Given the description of an element on the screen output the (x, y) to click on. 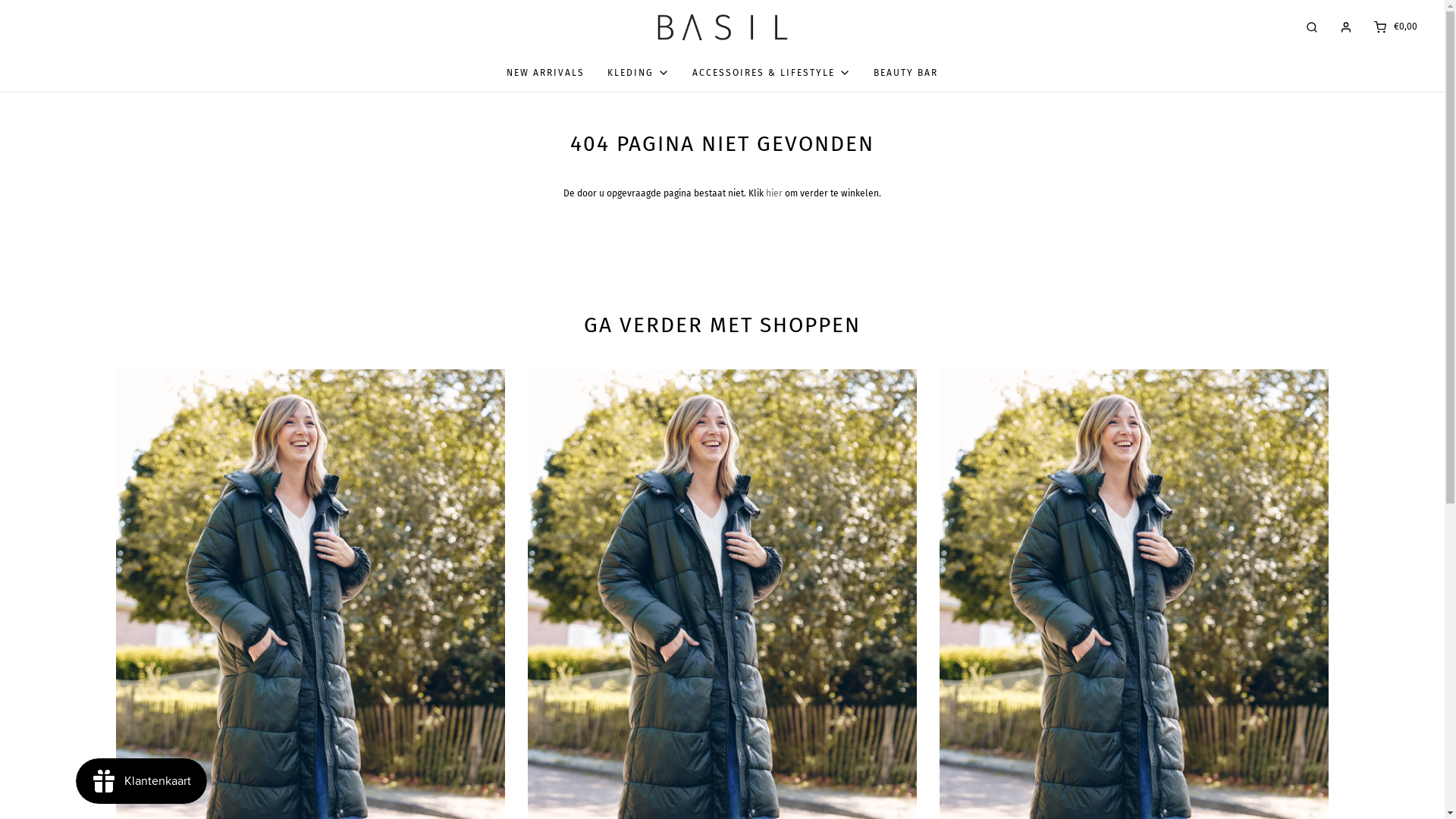
Smile.io Rewards Program Launcher Element type: hover (141, 780)
ACCESSOIRES & LIFESTYLE Element type: text (771, 72)
Log in Element type: hover (1345, 27)
Zoekopdracht Element type: hover (1311, 26)
NEW ARRIVALS Element type: text (545, 72)
KLEDING Element type: text (638, 72)
BEAUTY BAR Element type: text (905, 72)
hier Element type: text (773, 193)
